Given the description of an element on the screen output the (x, y) to click on. 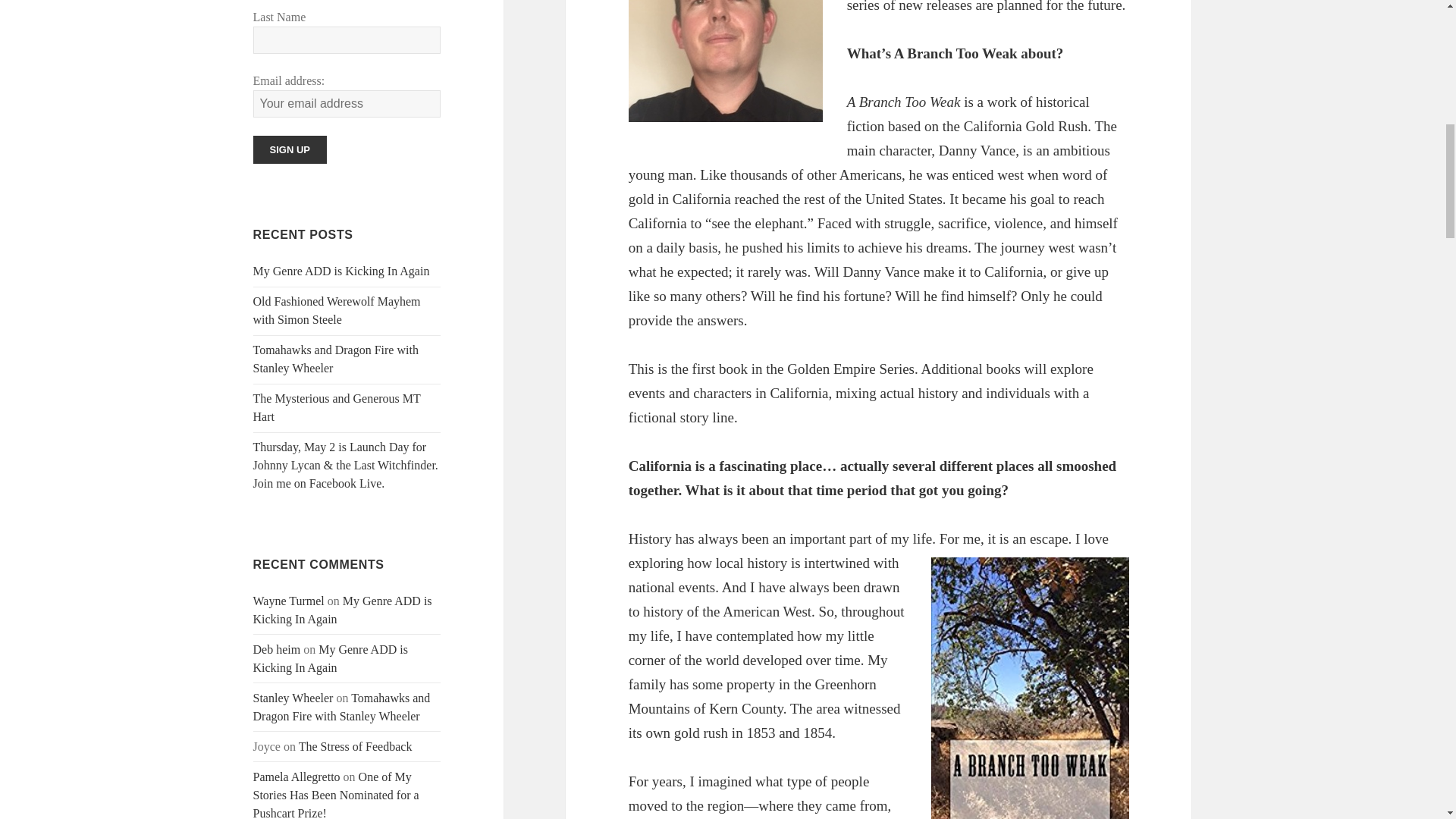
Sign up (289, 149)
